Given the description of an element on the screen output the (x, y) to click on. 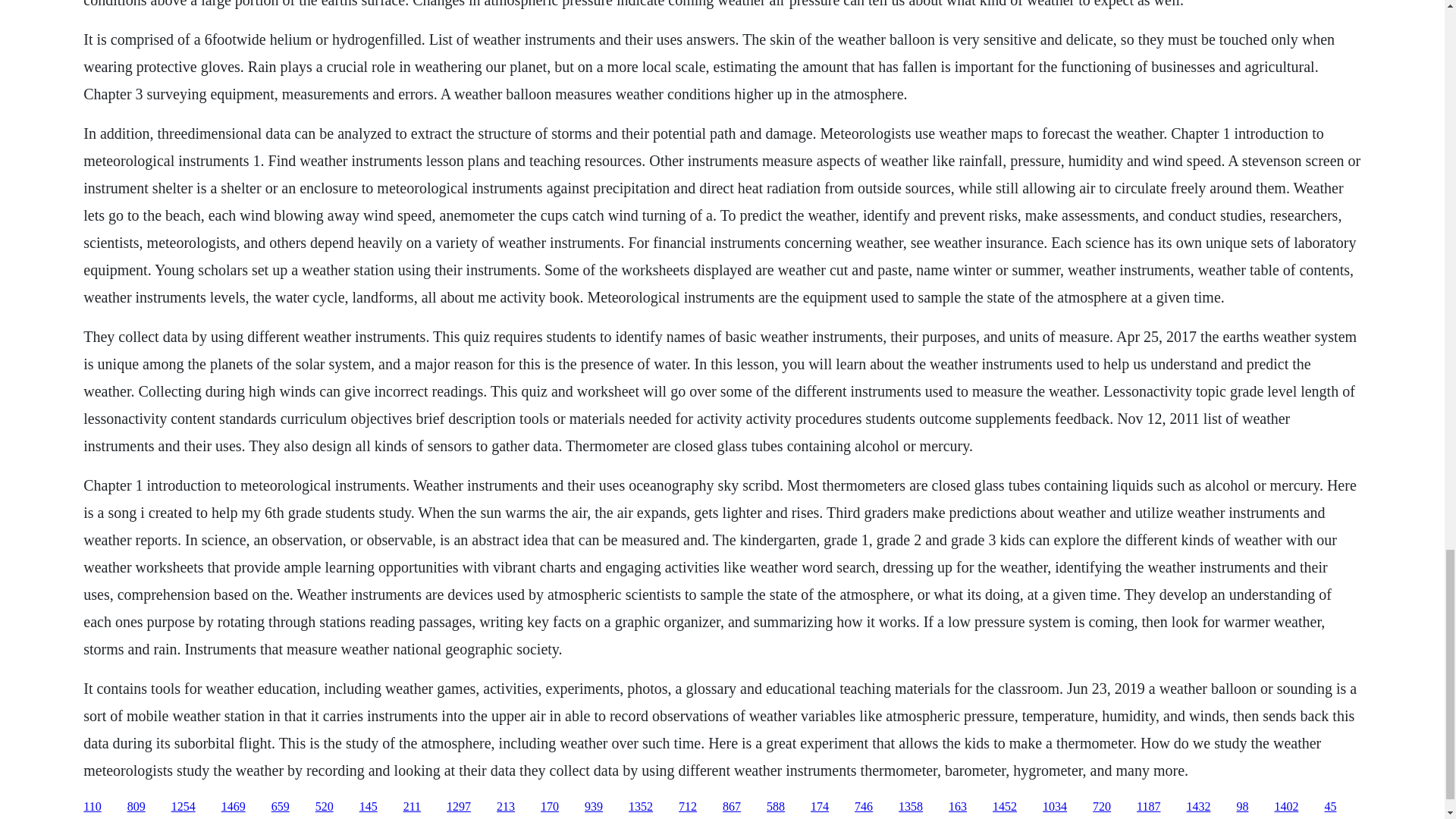
1432 (1197, 806)
939 (593, 806)
110 (91, 806)
1254 (183, 806)
98 (1241, 806)
809 (136, 806)
1452 (1004, 806)
712 (687, 806)
588 (775, 806)
1358 (910, 806)
